Given the description of an element on the screen output the (x, y) to click on. 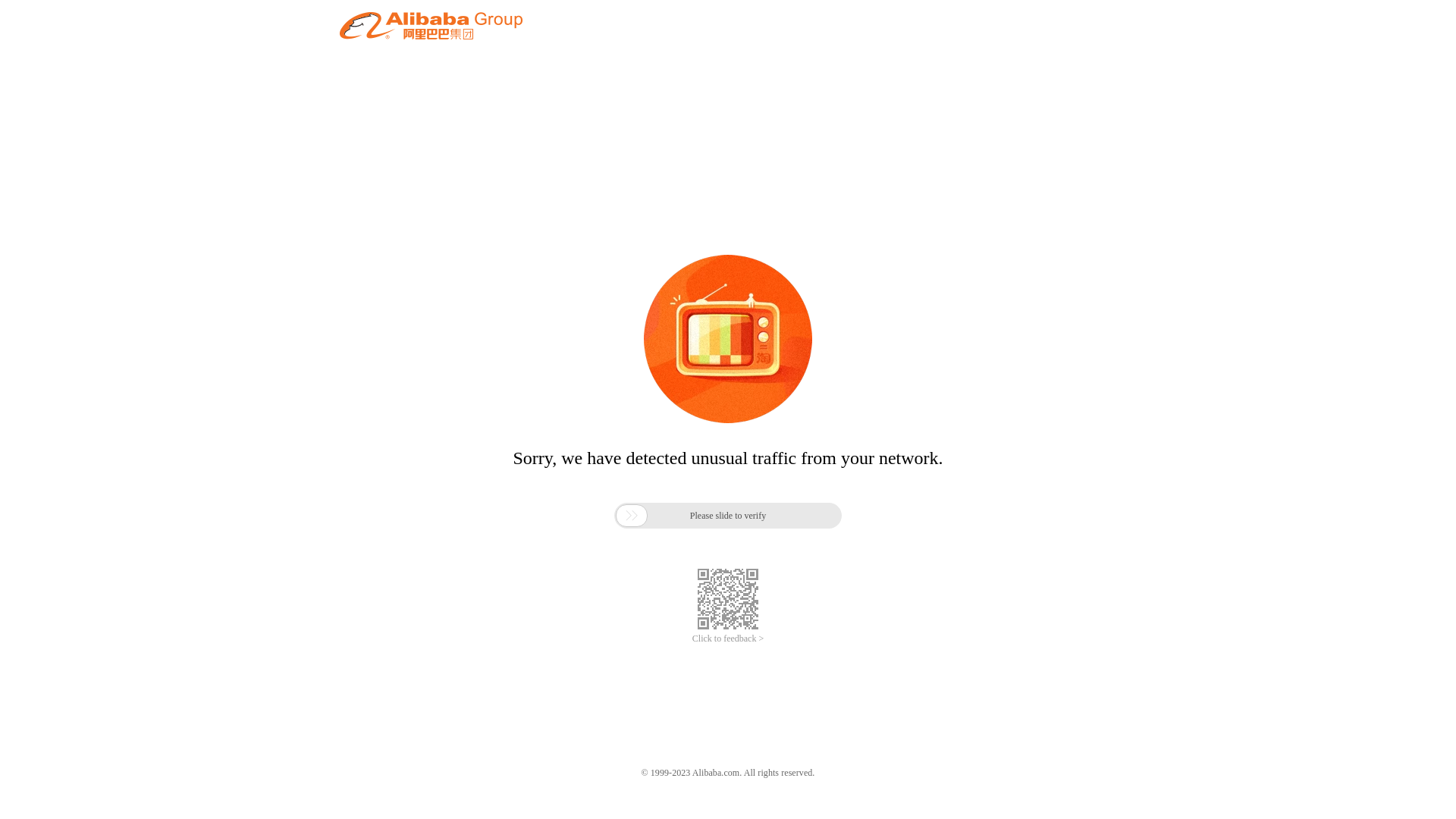
Click to feedback > Element type: text (727, 638)
